Given the description of an element on the screen output the (x, y) to click on. 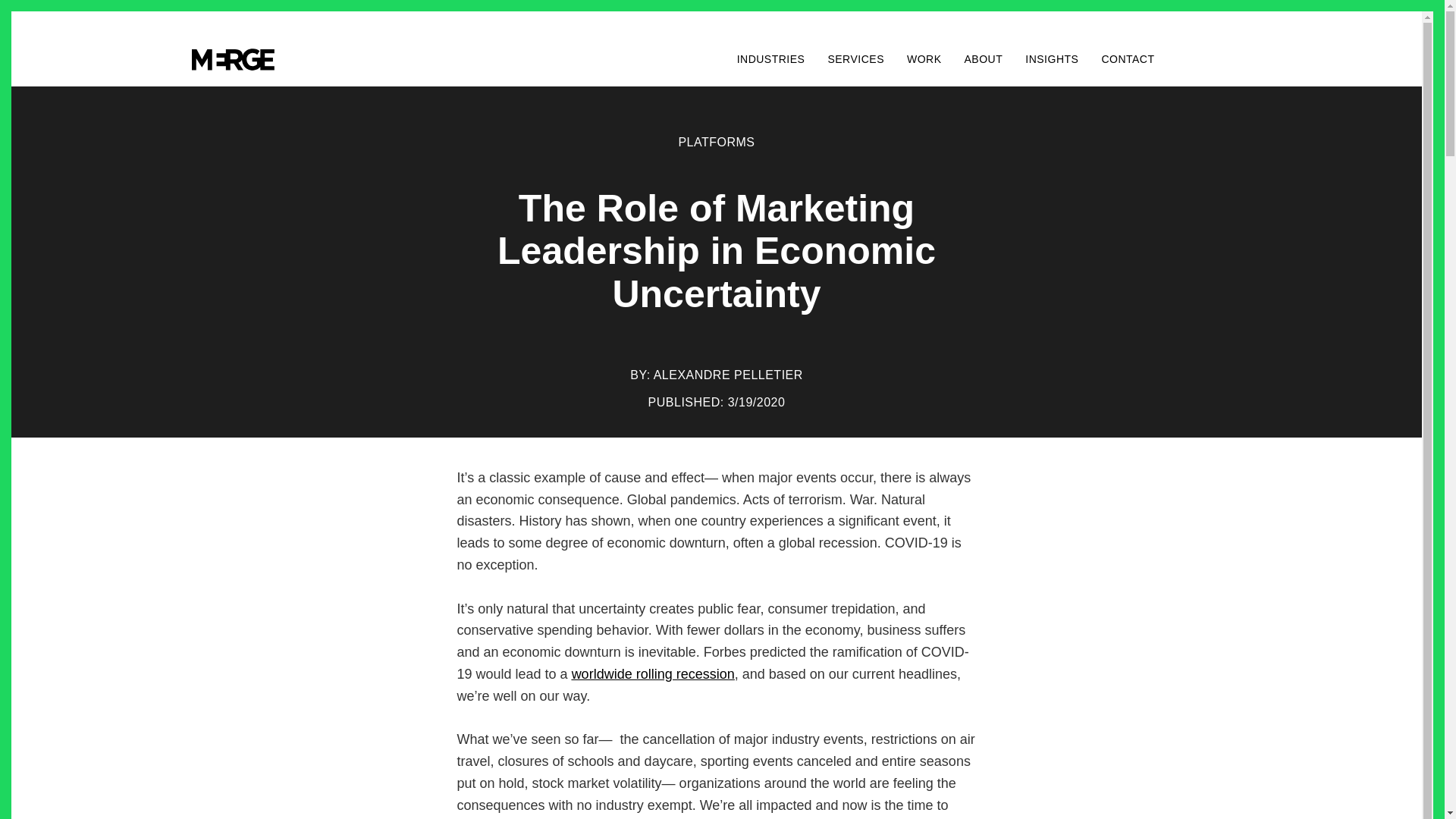
ABOUT (983, 59)
SERVICES (855, 59)
INDUSTRIES (770, 59)
WORK (924, 59)
INSIGHTS (1051, 59)
CONTACT (1127, 59)
